Given the description of an element on the screen output the (x, y) to click on. 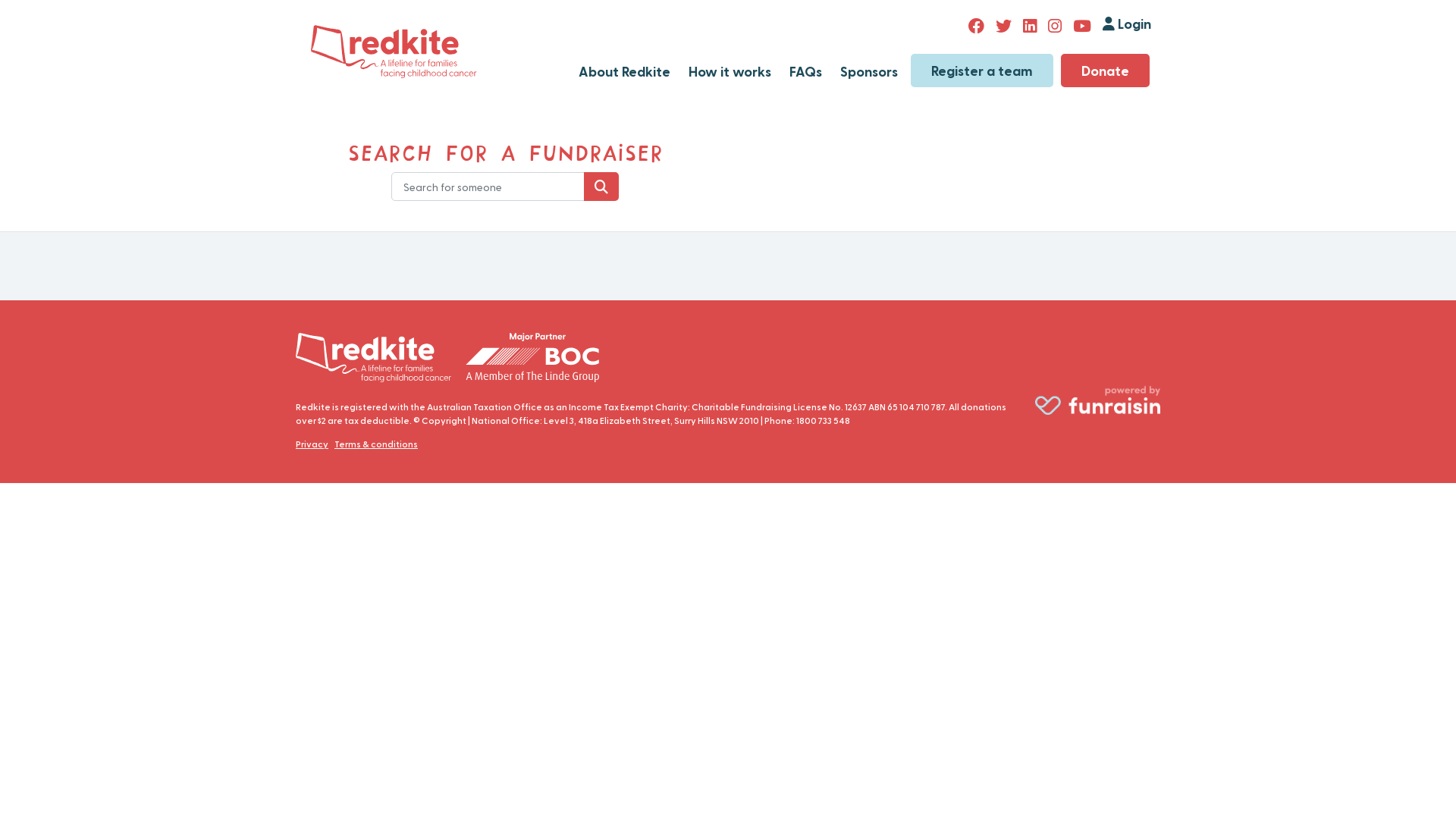
How it works Element type: text (729, 70)
Register a team Element type: text (981, 70)
Privacy Element type: text (311, 443)
conditions Element type: text (393, 443)
About Redkite Element type: text (624, 70)
Sponsors Element type: text (868, 70)
Donate Element type: text (1104, 70)
FAQs Element type: text (805, 70)
Terms & Element type: text (351, 443)
Login Element type: text (1132, 28)
